Given the description of an element on the screen output the (x, y) to click on. 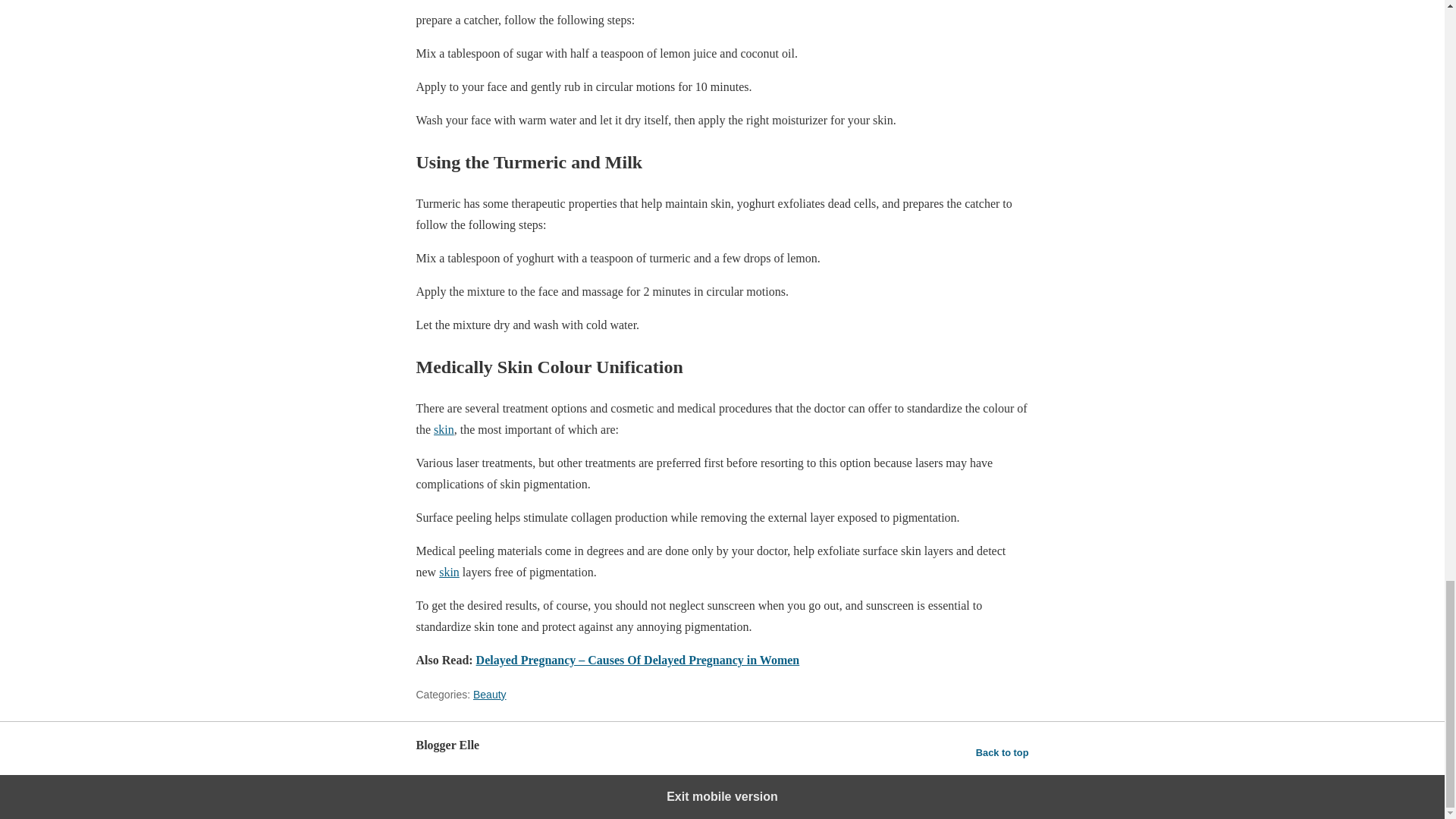
Back to top (1002, 752)
skin (443, 429)
skin (449, 571)
Beauty (489, 694)
